Given the description of an element on the screen output the (x, y) to click on. 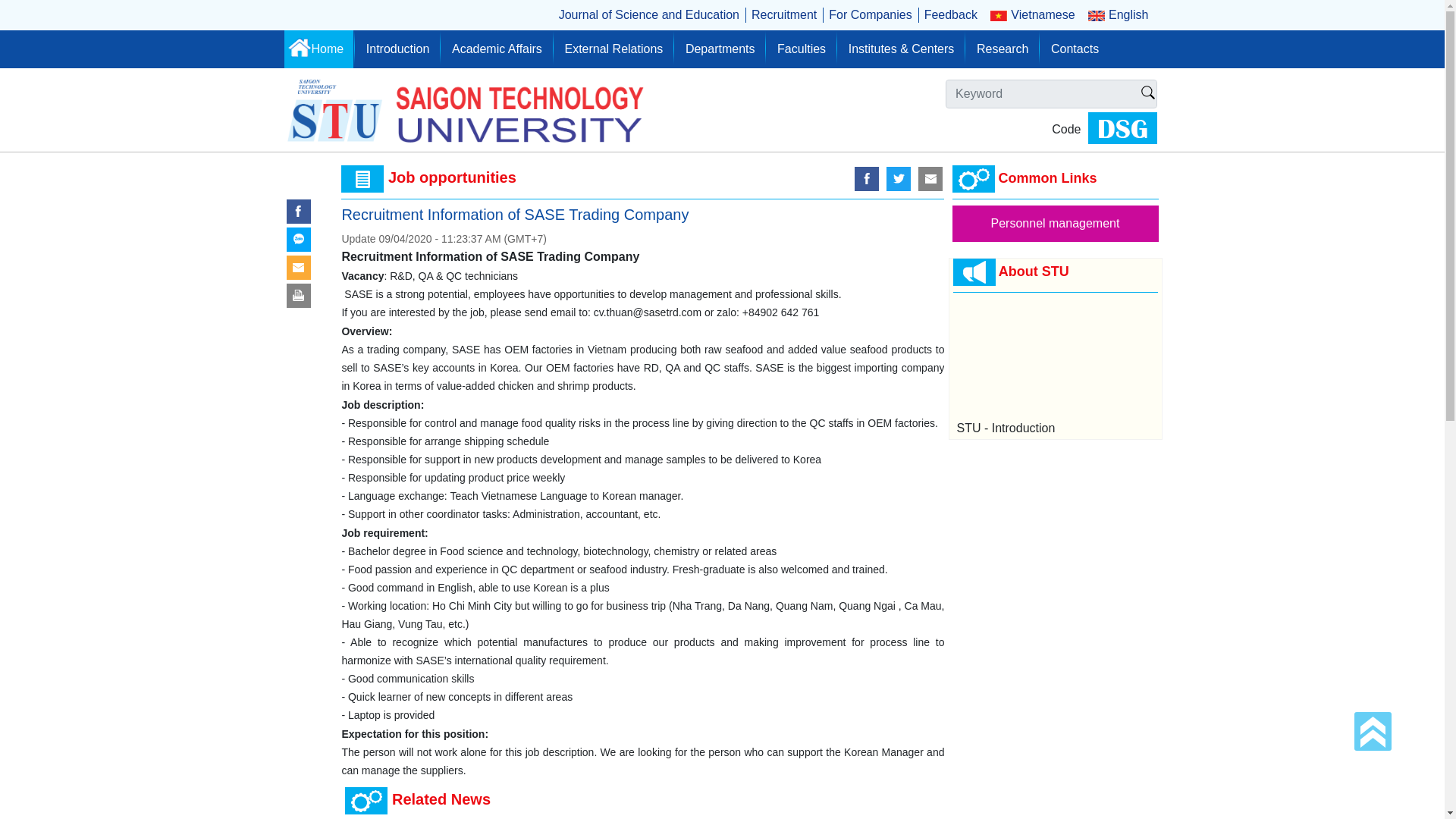
Journal of Science and Education (649, 15)
Vietnamese (1032, 15)
Contacts (1074, 48)
Departments (719, 48)
Mail (930, 178)
Feedback (951, 15)
Mail (298, 267)
Introduction (397, 48)
English (1117, 15)
Recruitment (783, 15)
Home (317, 48)
Academic Affairs (496, 48)
Faculties (801, 48)
Research (1002, 48)
For Companies (869, 15)
